Given the description of an element on the screen output the (x, y) to click on. 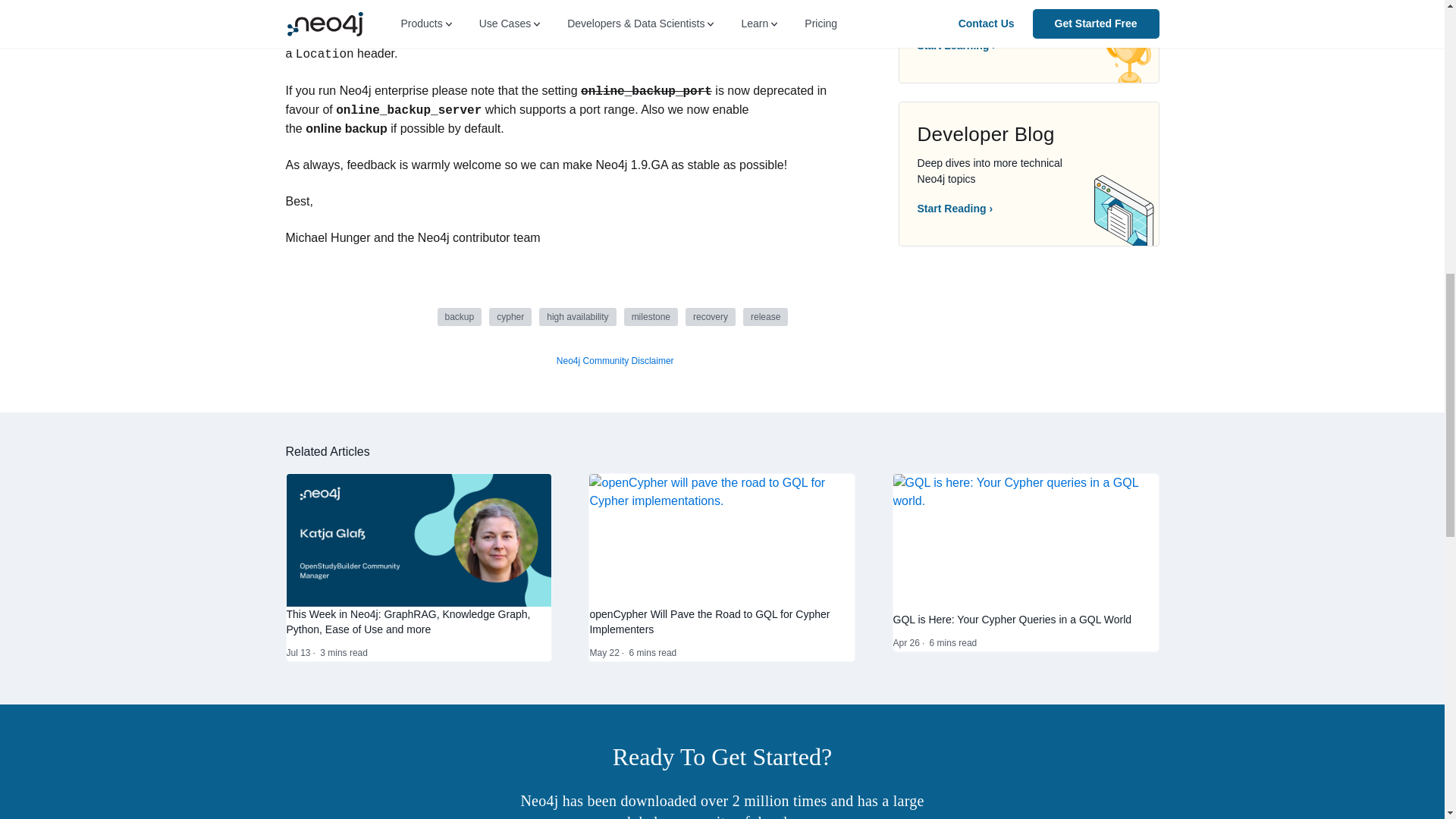
openCypher Will Pave the Road to GQL for Cypher Implementers (721, 621)
GQL is Here: Your Cypher Queries in a GQL World (1025, 541)
GQL is Here: Your Cypher Queries in a GQL World (1025, 619)
openCypher Will Pave the Road to GQL for Cypher Implementers (721, 538)
